Given the description of an element on the screen output the (x, y) to click on. 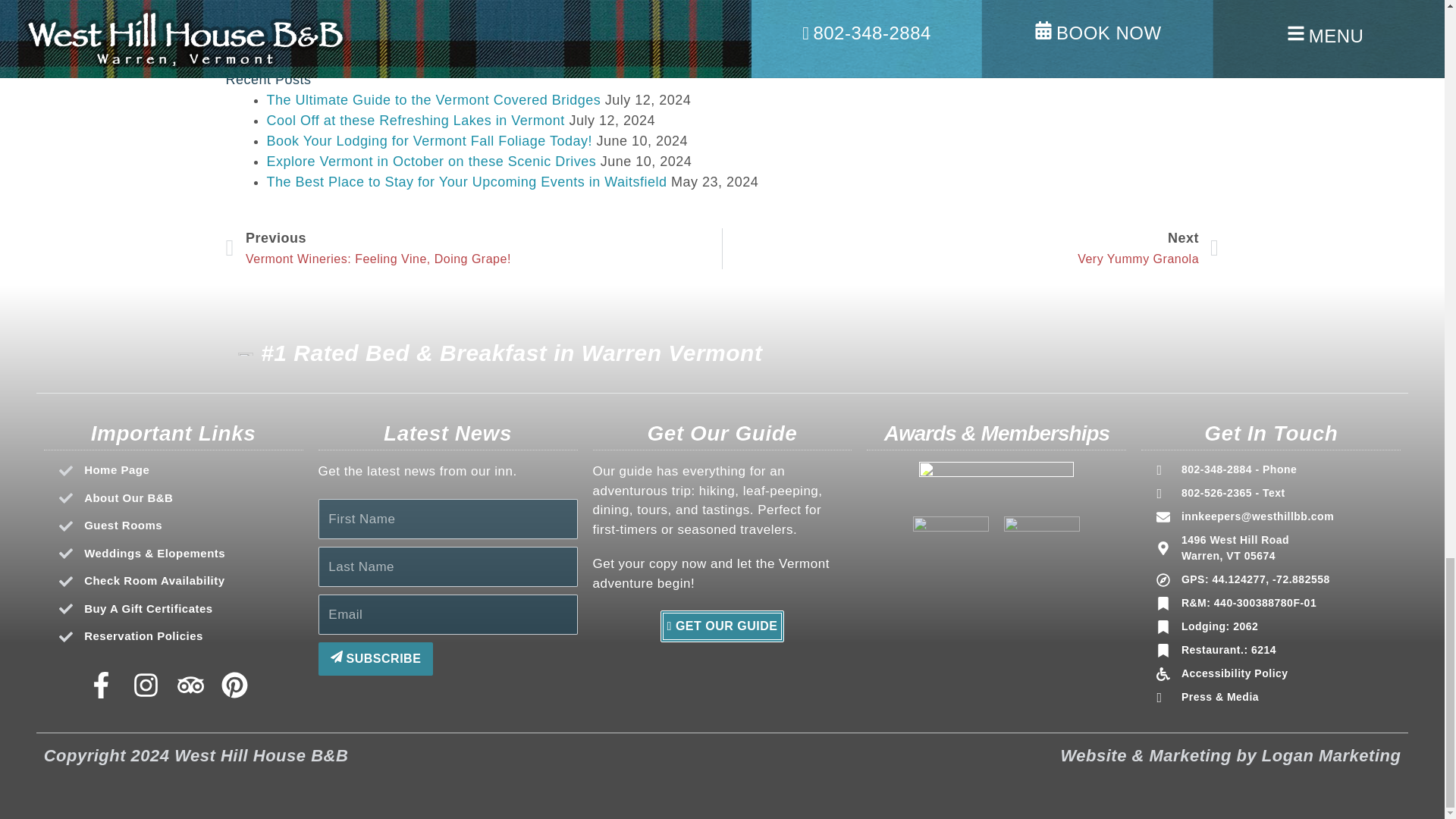
Getaway Packages (638, 27)
Reservations (1142, 17)
Explore Vermont in October on these Scenic Drives (431, 160)
Vermont (974, 17)
Guest Rooms (971, 248)
Cool Off at these Refreshing Lakes in Vermont (470, 17)
Home Page (415, 120)
Guest Rooms (180, 470)
Our Inn (180, 525)
The Ultimate Guide to the Vermont Covered Bridges (301, 17)
Book Your Lodging for Vermont Fall Foliage Today! (433, 99)
